Given the description of an element on the screen output the (x, y) to click on. 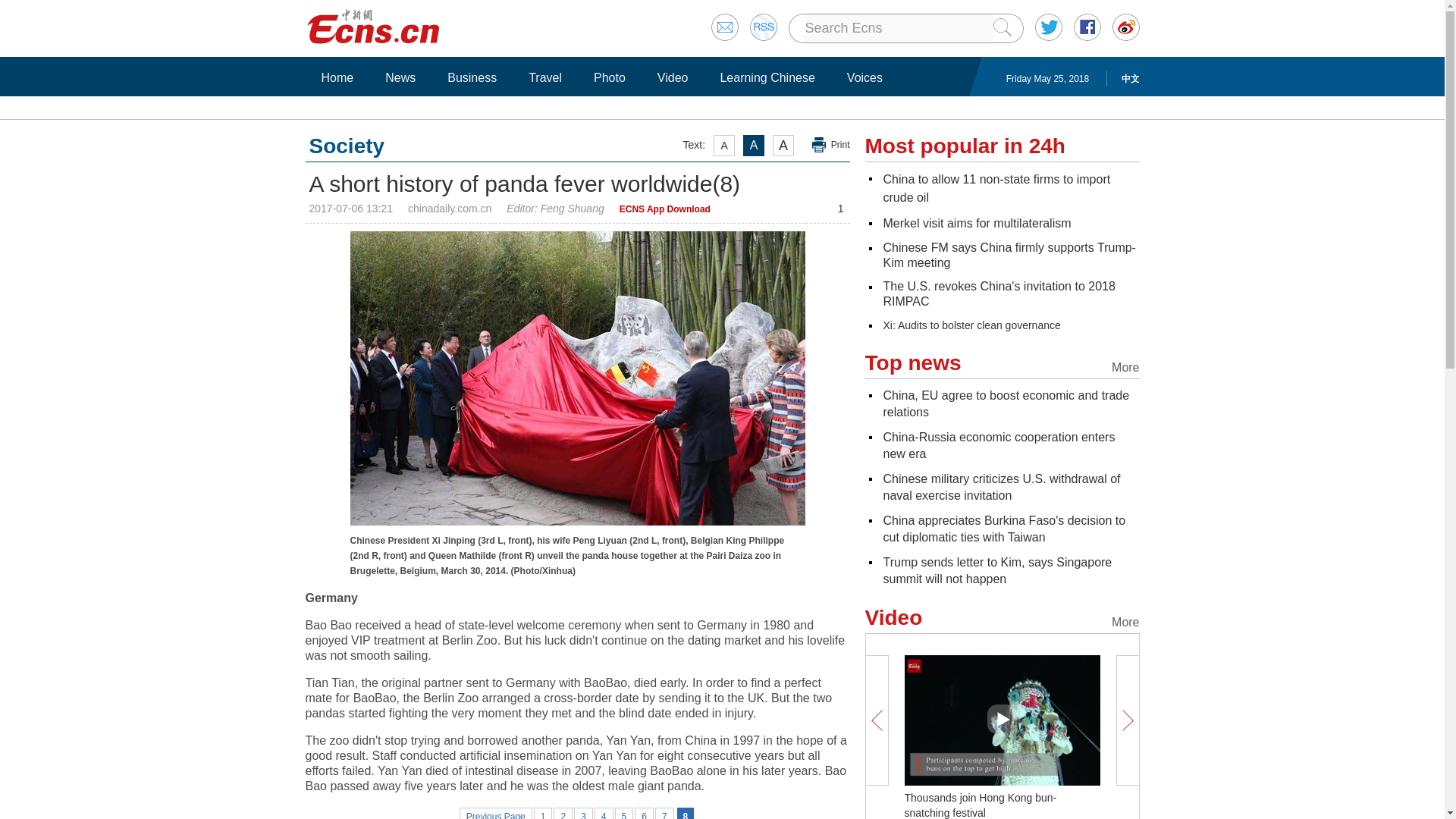
Video (673, 77)
Business (472, 77)
Home (337, 77)
The U.S. revokes China's invitation to 2018 RIMPAC (998, 293)
6 (643, 813)
Voices (864, 77)
ECNS App Download (665, 208)
Search Ecns (897, 27)
2 (562, 813)
Merkel visit aims for multilateralism (976, 223)
